Given the description of an element on the screen output the (x, y) to click on. 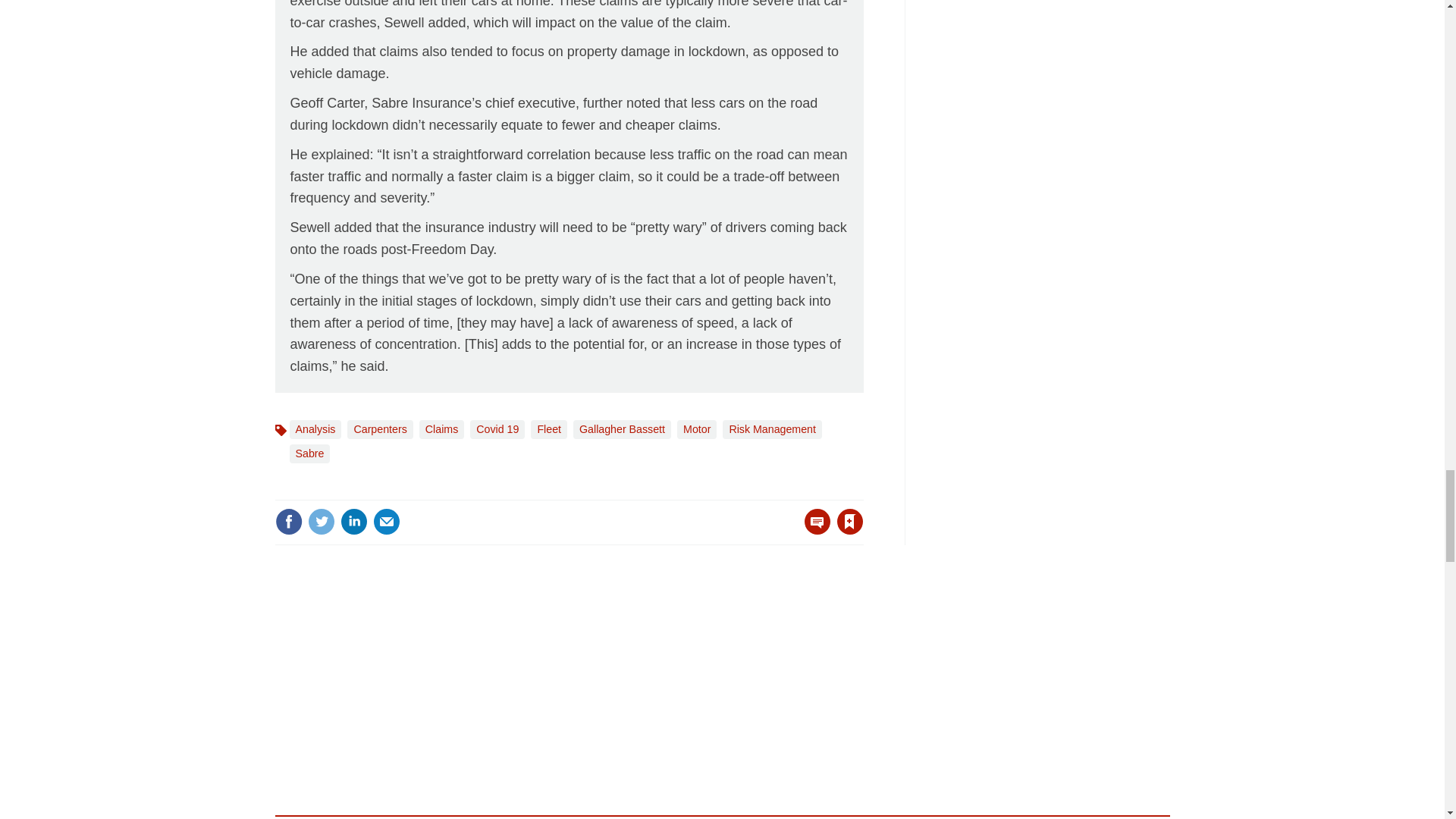
Share this on Linked in (352, 521)
Share this on Facebook (288, 521)
Share this on Twitter (320, 521)
No comments (812, 530)
Email this article (386, 521)
